Given the description of an element on the screen output the (x, y) to click on. 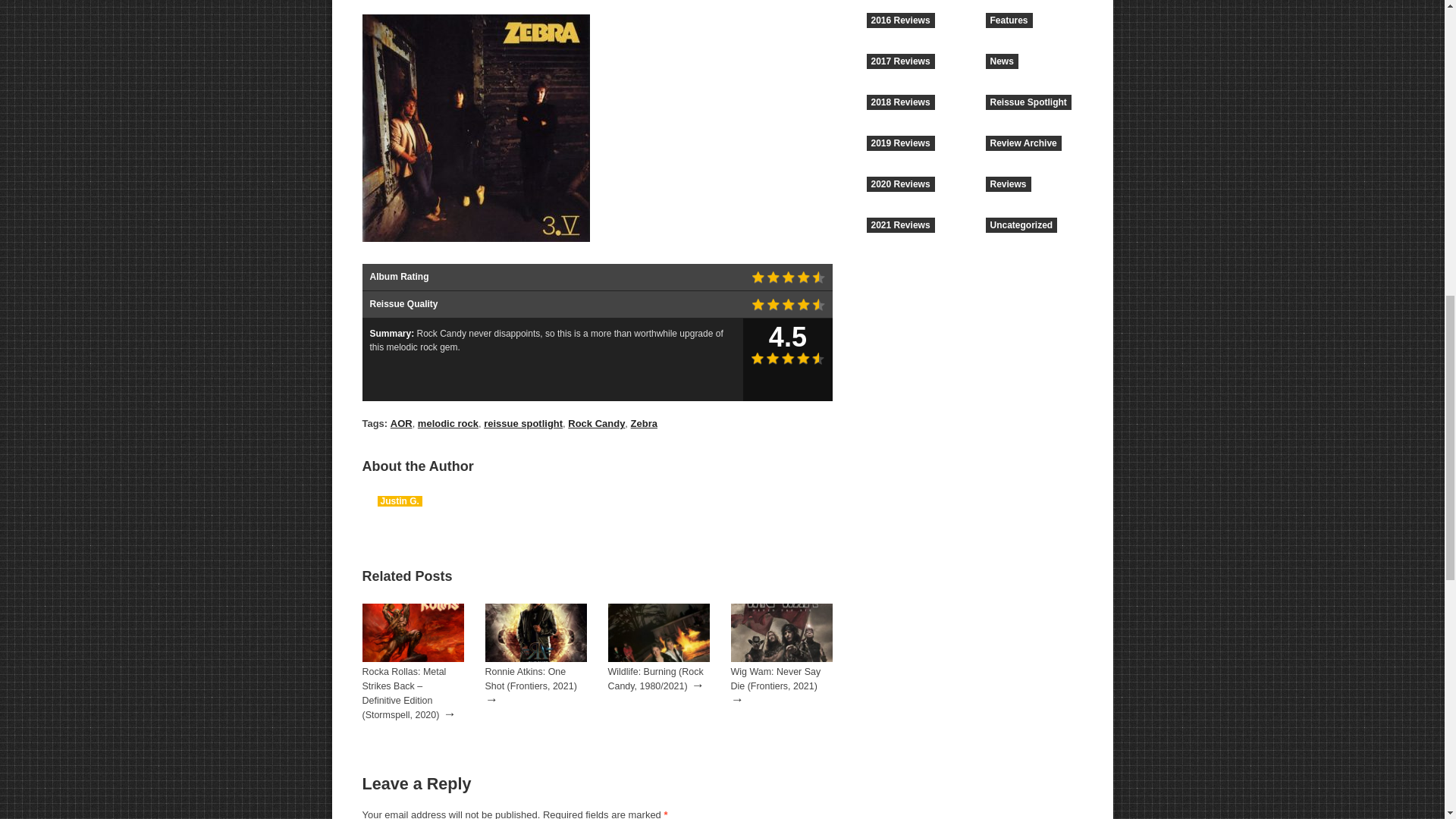
Zebra (644, 423)
Posts by Justin G. (399, 501)
Justin G. (399, 501)
reissue spotlight (522, 423)
AOR (401, 423)
melodic rock (448, 423)
Rock Candy (595, 423)
